Given the description of an element on the screen output the (x, y) to click on. 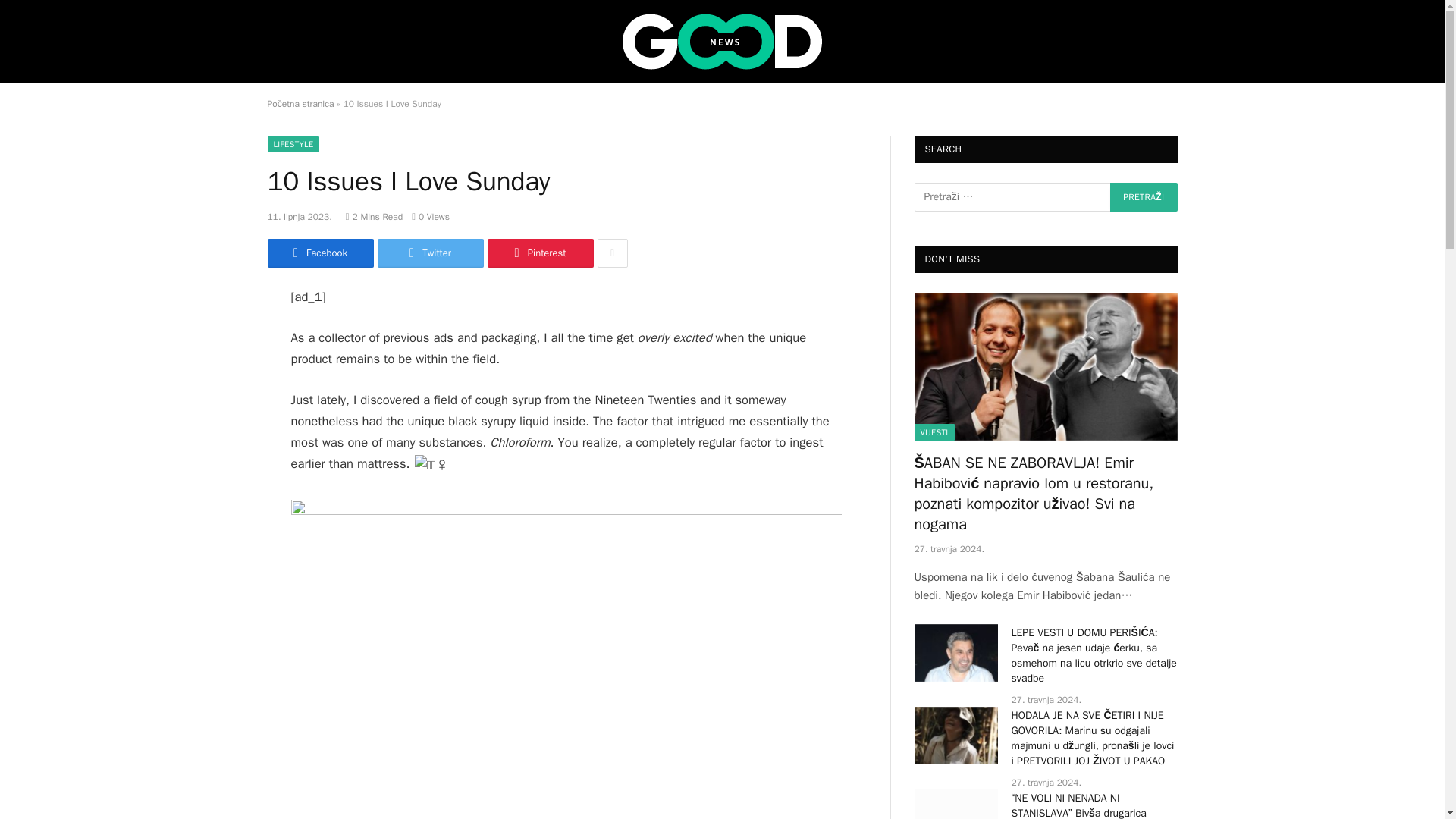
Share on Pinterest (539, 253)
Share on Facebook (319, 253)
Pinterest (539, 253)
Facebook (319, 253)
Twitter (430, 253)
Show More Social Sharing (611, 253)
0 Article Views (430, 216)
Vijesti Live (722, 40)
LIFESTYLE (292, 143)
